Given the description of an element on the screen output the (x, y) to click on. 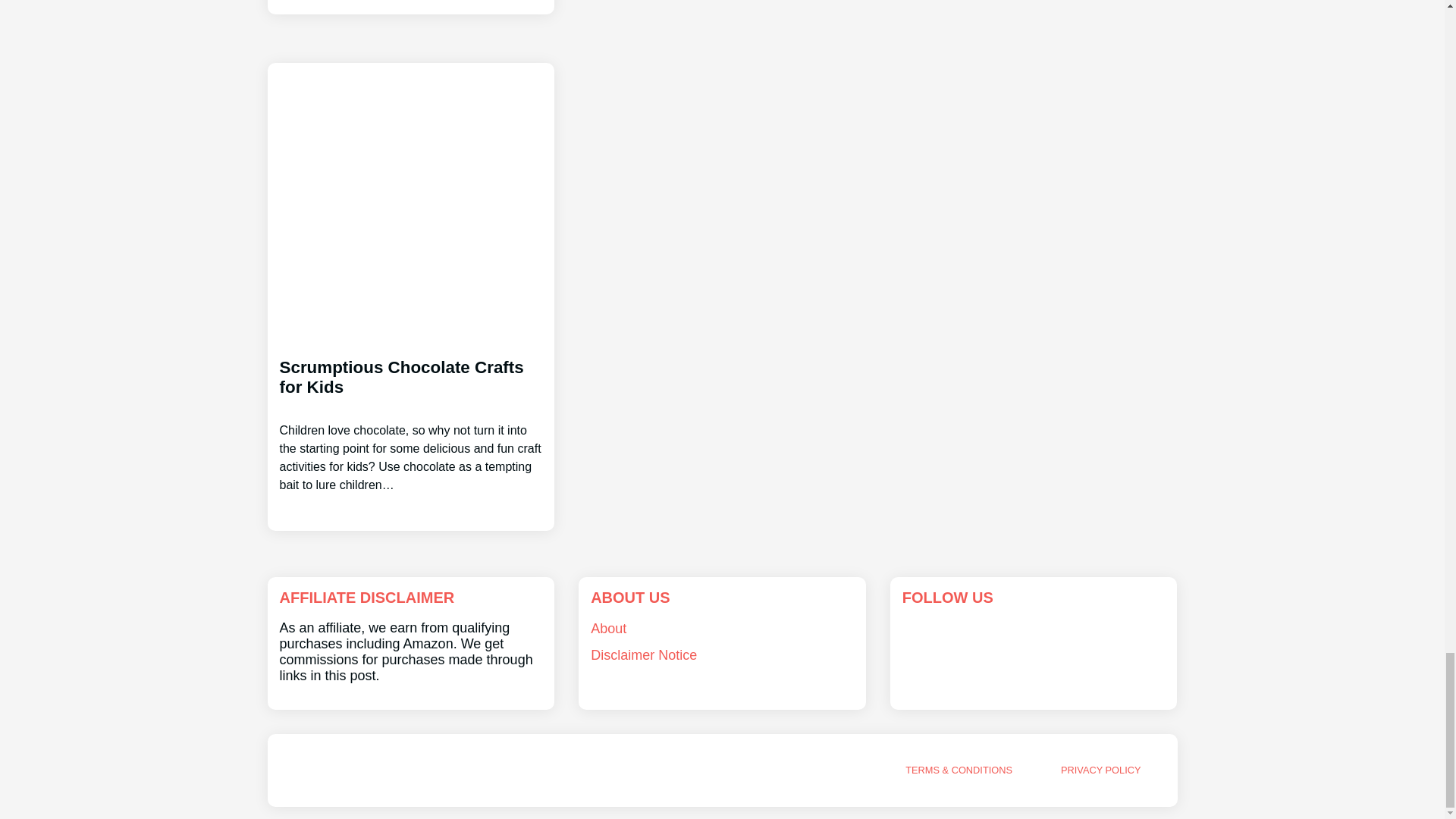
Disclaimer Notice (644, 654)
Scrumptious Chocolate Crafts for Kids (410, 412)
PRIVACY POLICY (1101, 769)
About (608, 628)
